Given the description of an element on the screen output the (x, y) to click on. 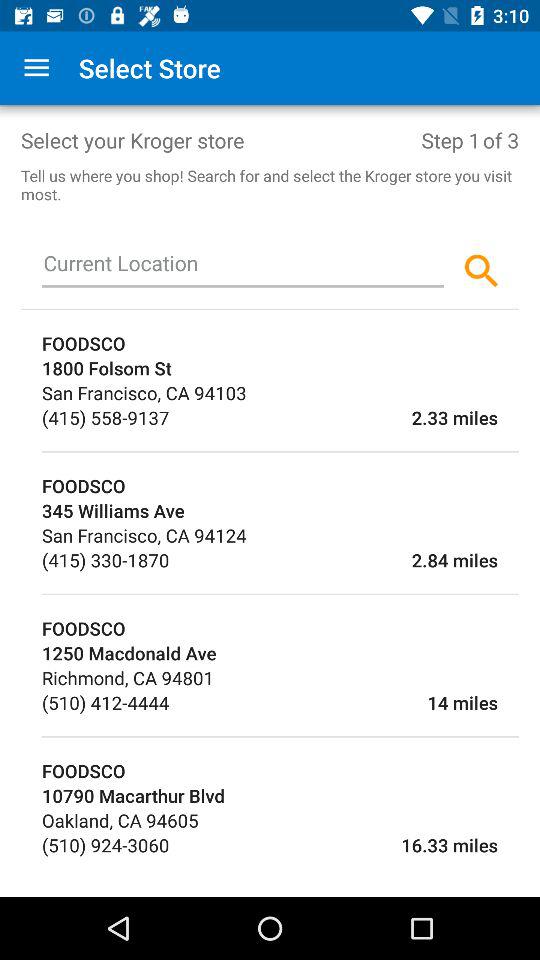
click the app to the left of select store item (36, 68)
